Given the description of an element on the screen output the (x, y) to click on. 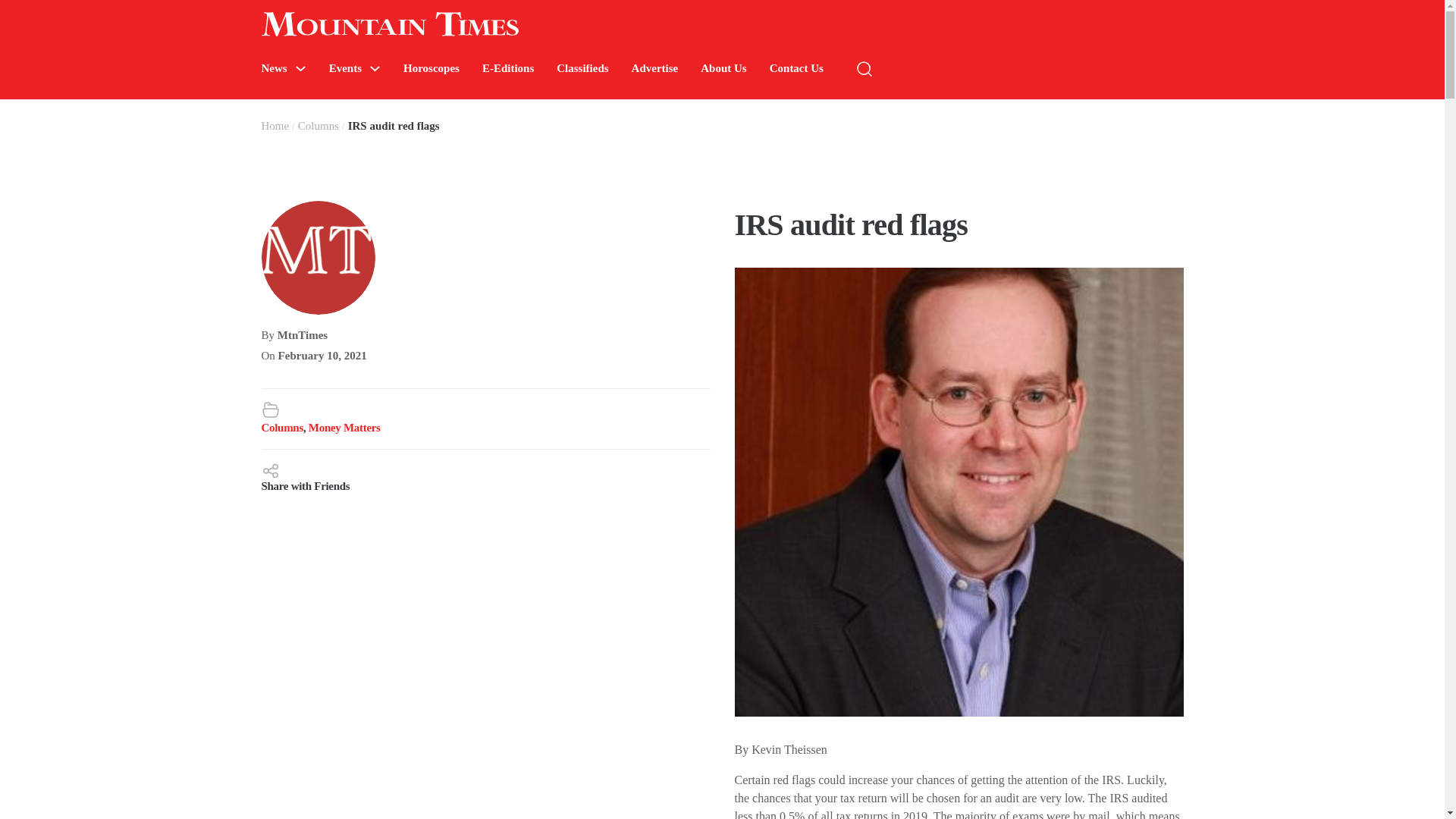
About Us (722, 67)
Search (1274, 114)
Home (274, 125)
Columns (318, 125)
Contact Us (797, 67)
Share with Friends (485, 476)
Events (345, 67)
Advertise (654, 67)
News (273, 67)
MtnTimes (302, 335)
Money Matters (344, 427)
Horoscopes (431, 67)
Columns (281, 427)
E-Editions (507, 67)
Classifieds (582, 67)
